Given the description of an element on the screen output the (x, y) to click on. 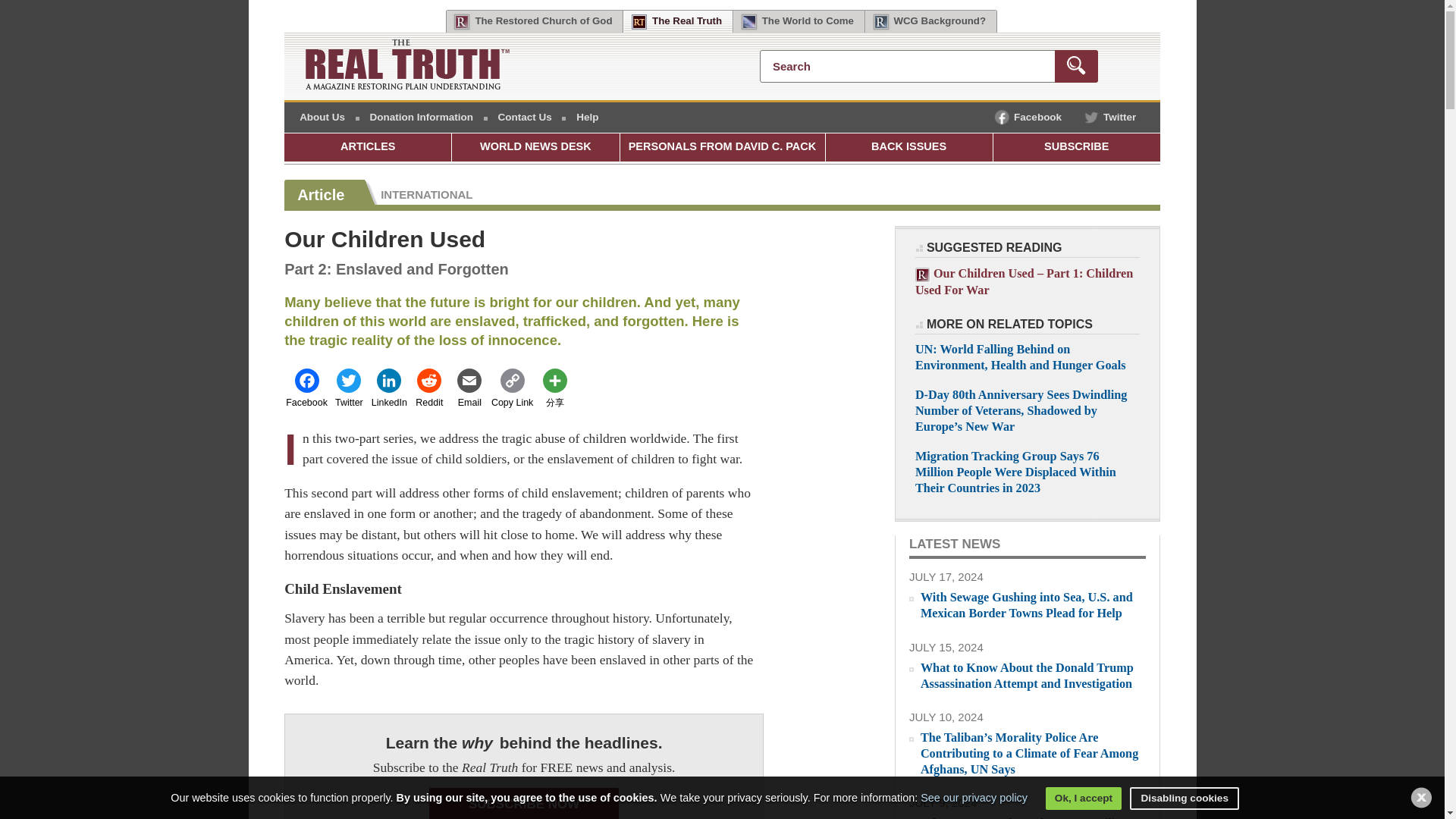
Facebook (306, 388)
 The Real Truth (678, 21)
About Us (322, 116)
GO (1075, 65)
ARTICLES (367, 147)
SUBSCRIBE (1076, 147)
 The Restored Church of God (534, 21)
Copy Link (511, 388)
PERSONALS FROM DAVID C. PACK (722, 147)
WORLD NEWS DESK (534, 147)
 The World to Come (798, 21)
Search (928, 65)
Twitter (349, 388)
Contact Us (525, 116)
BACK ISSUES (908, 147)
